Given the description of an element on the screen output the (x, y) to click on. 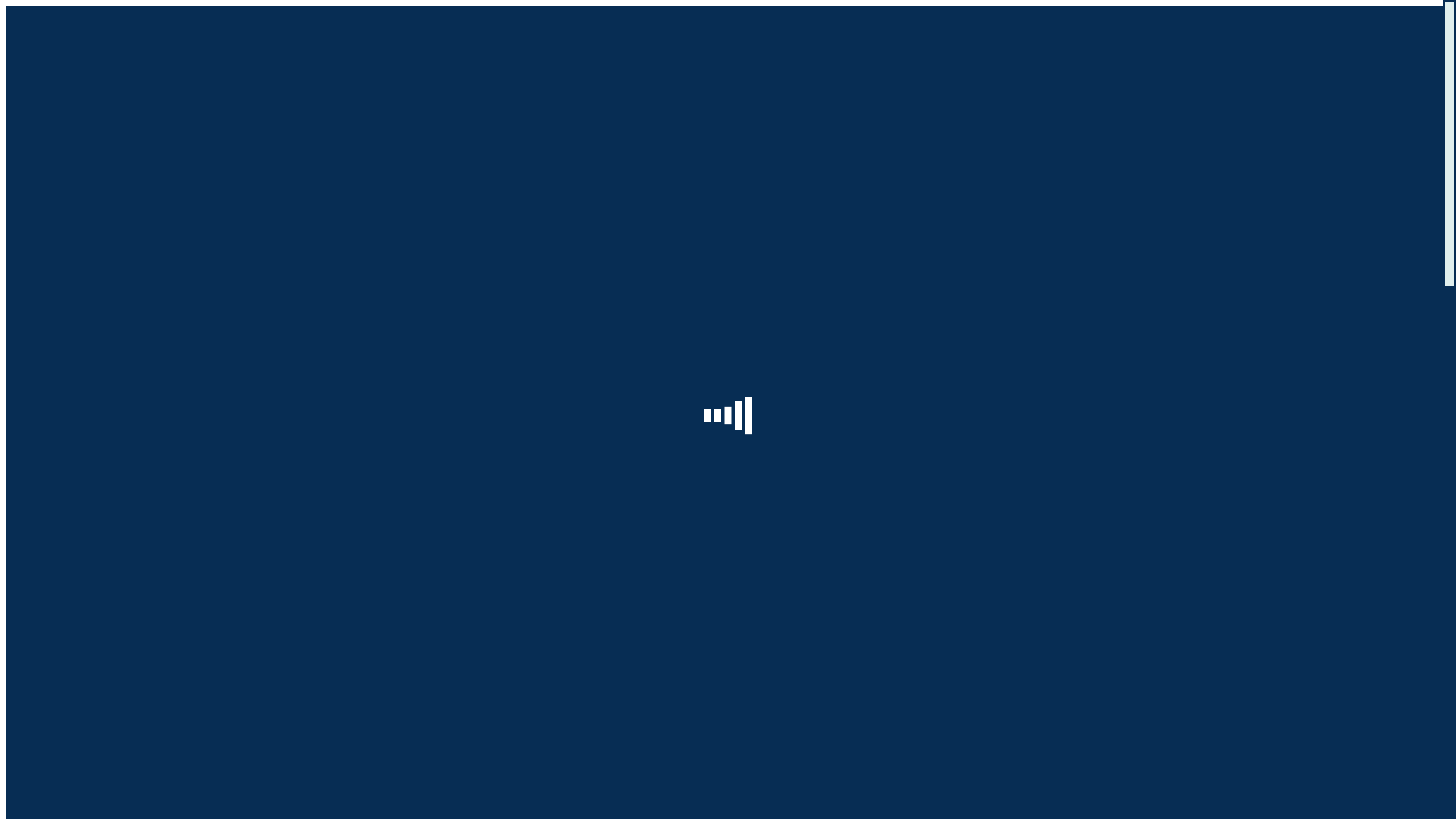
Skip to content Element type: text (42, 12)
Wollongong Podiatry Clinic Element type: text (165, 800)
Wollongong (02) 4229 3622 Element type: text (74, 37)
Gait Analysis Element type: text (130, 564)
Kids Element type: text (77, 482)
Sports Element type: text (81, 550)
Intoeing (Pigeon Toed Walking) Element type: text (174, 495)
Our Locations Element type: text (101, 787)
Our Locations Element type: text (101, 318)
Sports Injuries Element type: text (132, 577)
Our Team Element type: text (90, 773)
Diabetes Element type: text (118, 413)
Make an Appointment Element type: text (90, 165)
Wollongong Podiatry Clinic Element type: text (134, 632)
Heel Pain Element type: text (120, 400)
Swift Element type: text (49, 591)
Home Element type: text (50, 277)
FAQs Element type: text (80, 359)
Our Team Element type: text (90, 304)
Tarsal Coalition Element type: text (135, 454)
Toe walking Element type: text (126, 509)
Tripping Element type: text (117, 536)
Heel Pain Element type: text (120, 523)
Home Element type: text (50, 746)
Our Centre Element type: text (63, 291)
Home Element type: text (50, 137)
Contact Element type: text (55, 618)
Toenail Problems Element type: text (139, 427)
Our Blog Element type: text (58, 151)
Make an Appointment Element type: text (248, 671)
Shellharbour (02) 4295 5588 Element type: text (76, 51)
Our Centre Element type: text (63, 759)
Adults Element type: text (82, 386)
Bunions Element type: text (117, 441)
How We Can Help Element type: text (82, 373)
Shellharbour Podiatry Clinic Element type: text (166, 345)
Ingrown toenails Element type: text (137, 468)
Shellharbour Podiatry Clinic Element type: text (136, 646)
Wollongong Podiatry Clinic Element type: text (165, 332)
